Given the description of an element on the screen output the (x, y) to click on. 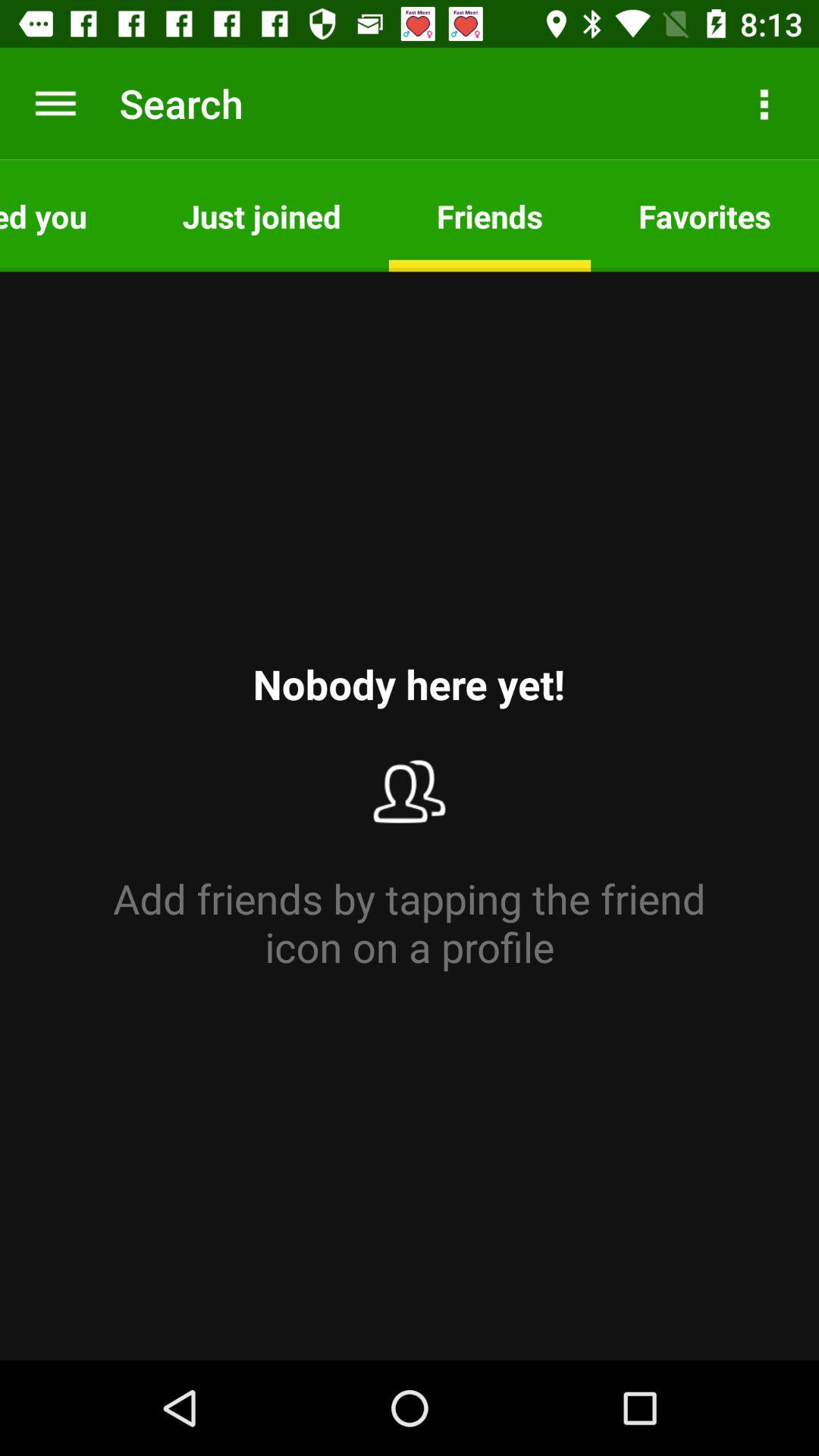
launch the app above the add friends by icon (67, 215)
